Given the description of an element on the screen output the (x, y) to click on. 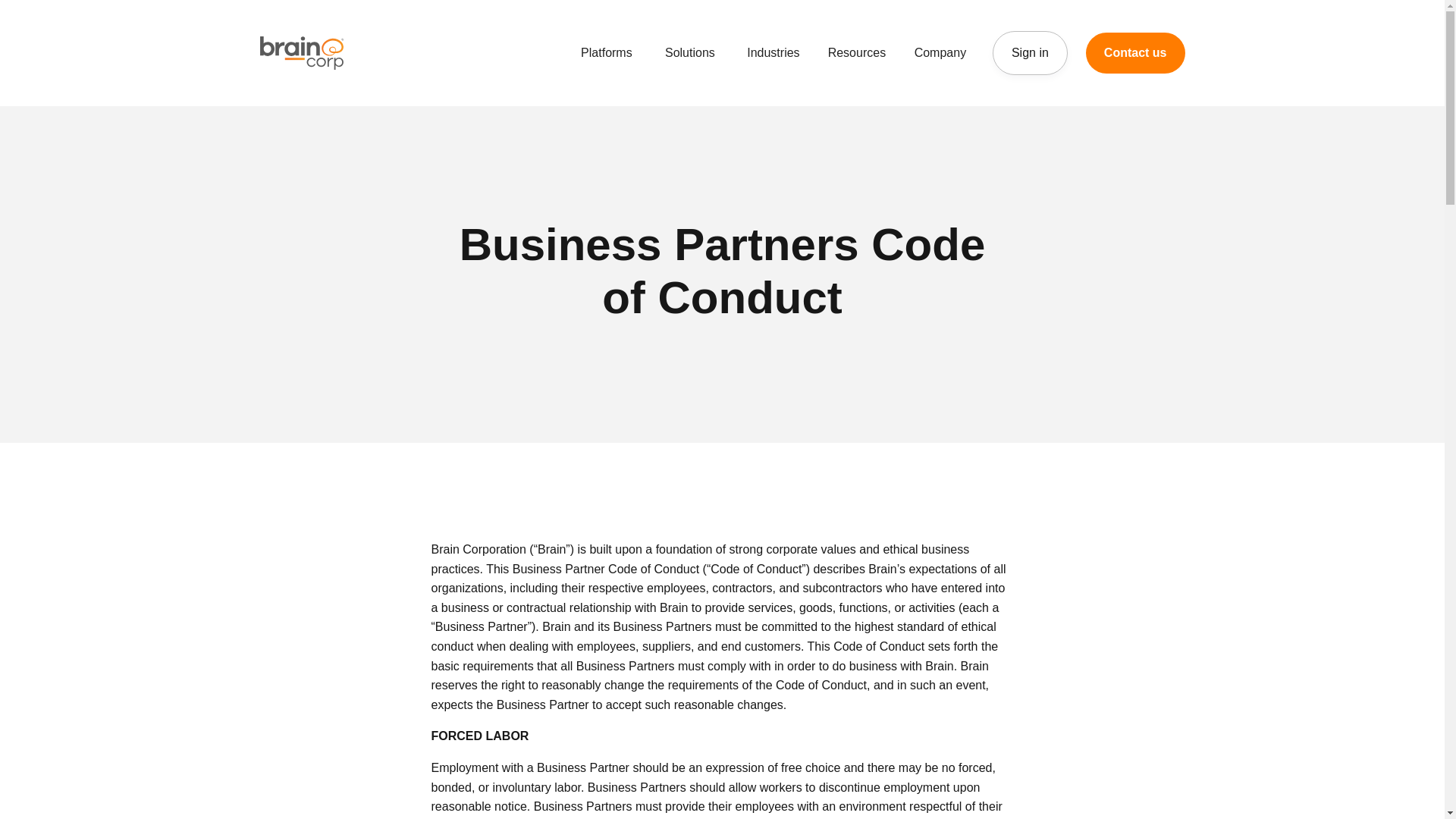
Contact us (1135, 52)
Sign in (1029, 53)
